Given the description of an element on the screen output the (x, y) to click on. 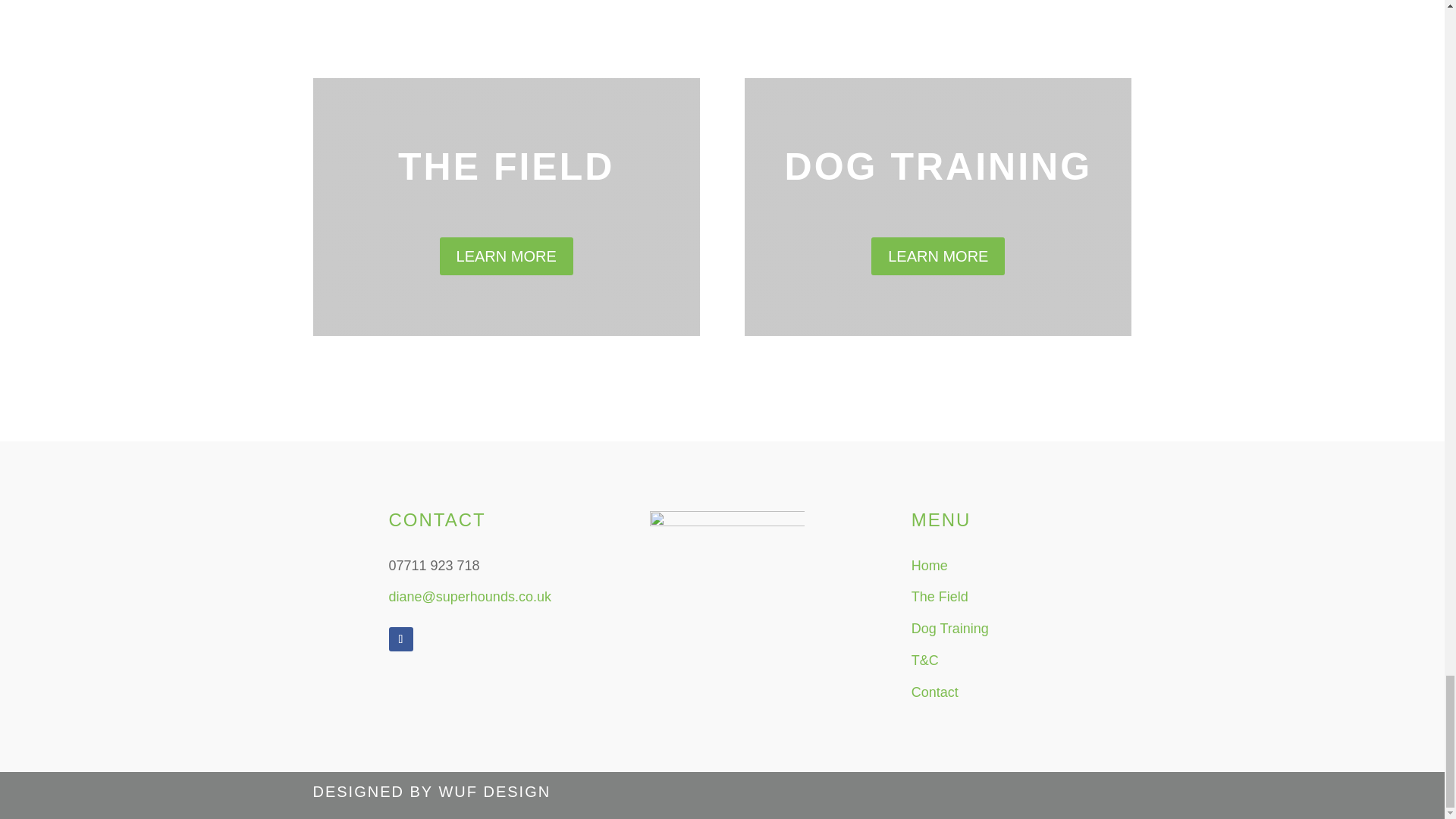
Follow on Facebook (400, 639)
Contact (934, 692)
The Field (939, 596)
LEARN MORE (506, 256)
LEARN MORE (937, 256)
WUF DESIGN (494, 791)
Home (929, 565)
Dog Training (949, 628)
